Given the description of an element on the screen output the (x, y) to click on. 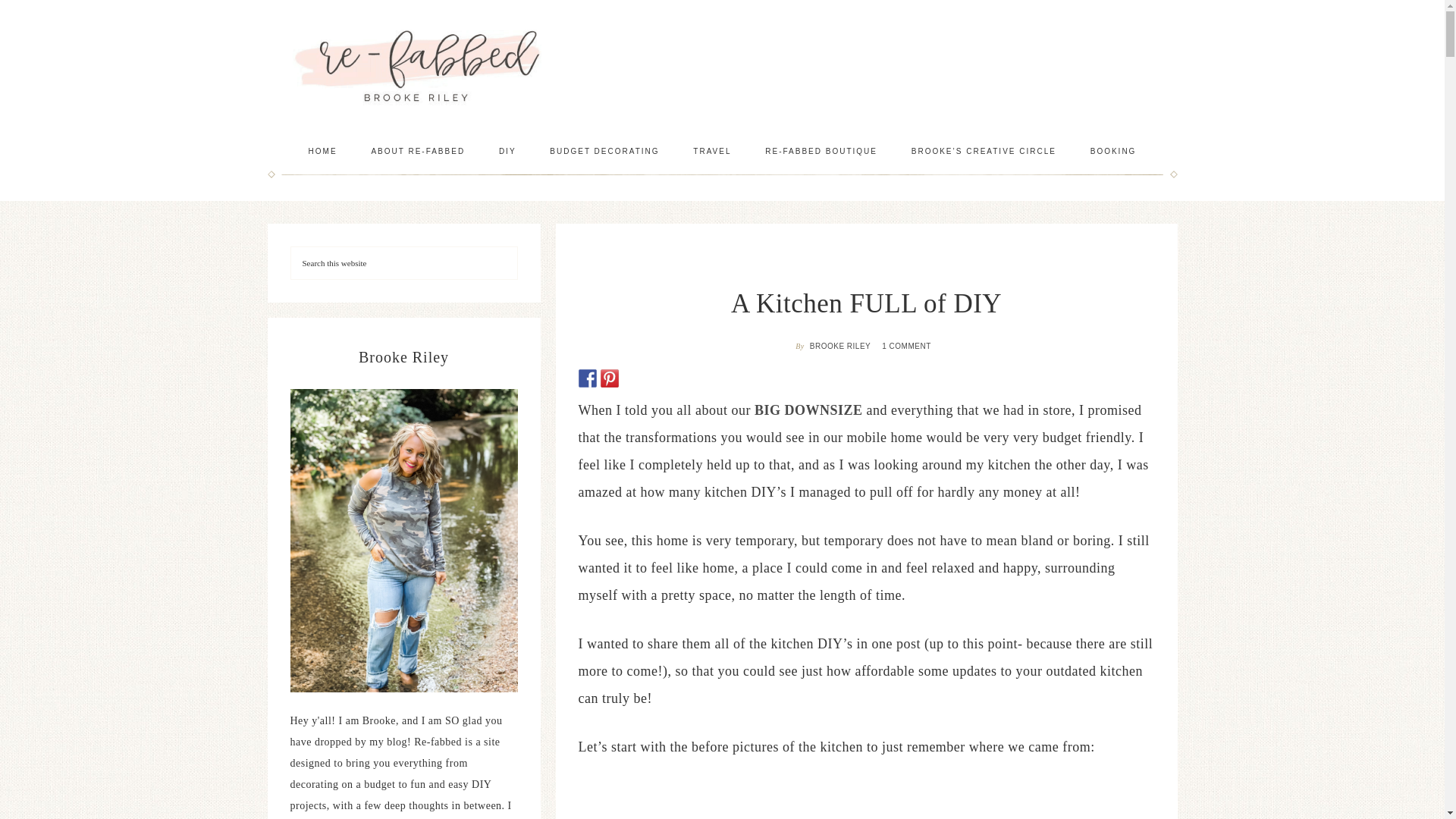
RE-FABBED BOUTIQUE (820, 151)
DIY (507, 151)
ABOUT RE-FABBED (417, 151)
Pin it! (608, 378)
BIG DOWNSIZE (808, 409)
TRAVEL (711, 151)
HOME (323, 151)
BOOKING (1113, 151)
